Given the description of an element on the screen output the (x, y) to click on. 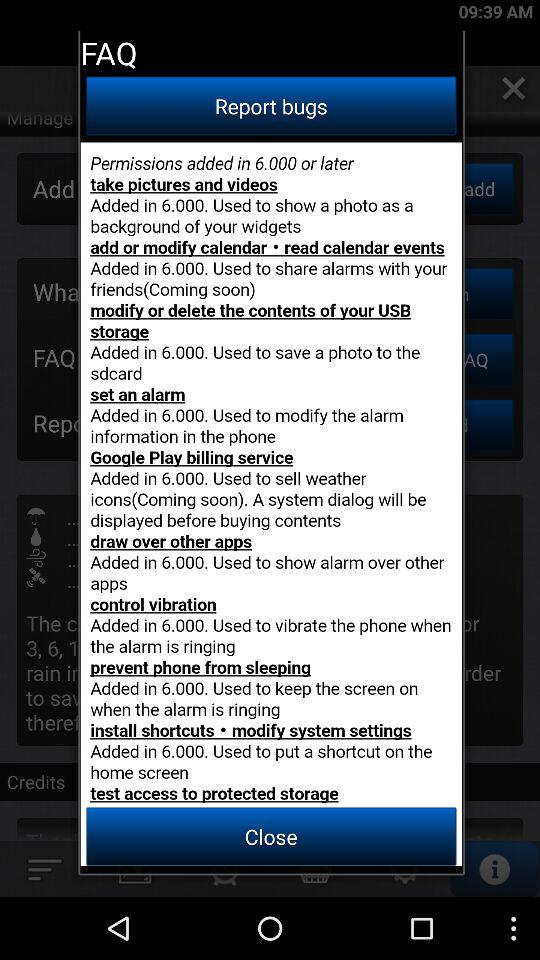
faq window (271, 504)
